Given the description of an element on the screen output the (x, y) to click on. 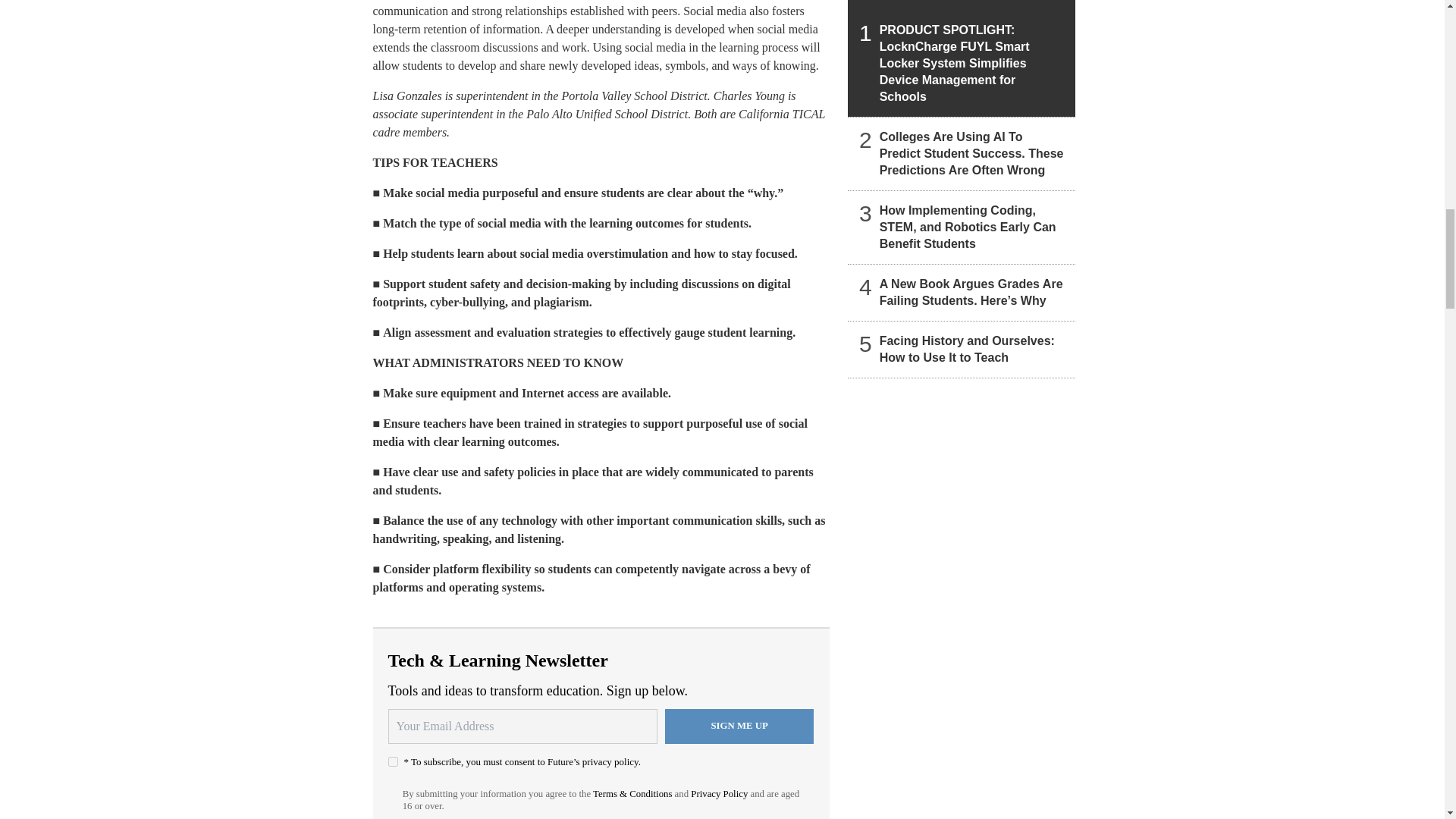
Privacy Policy (719, 793)
on (392, 761)
Sign me up (739, 726)
Sign me up (739, 726)
